Given the description of an element on the screen output the (x, y) to click on. 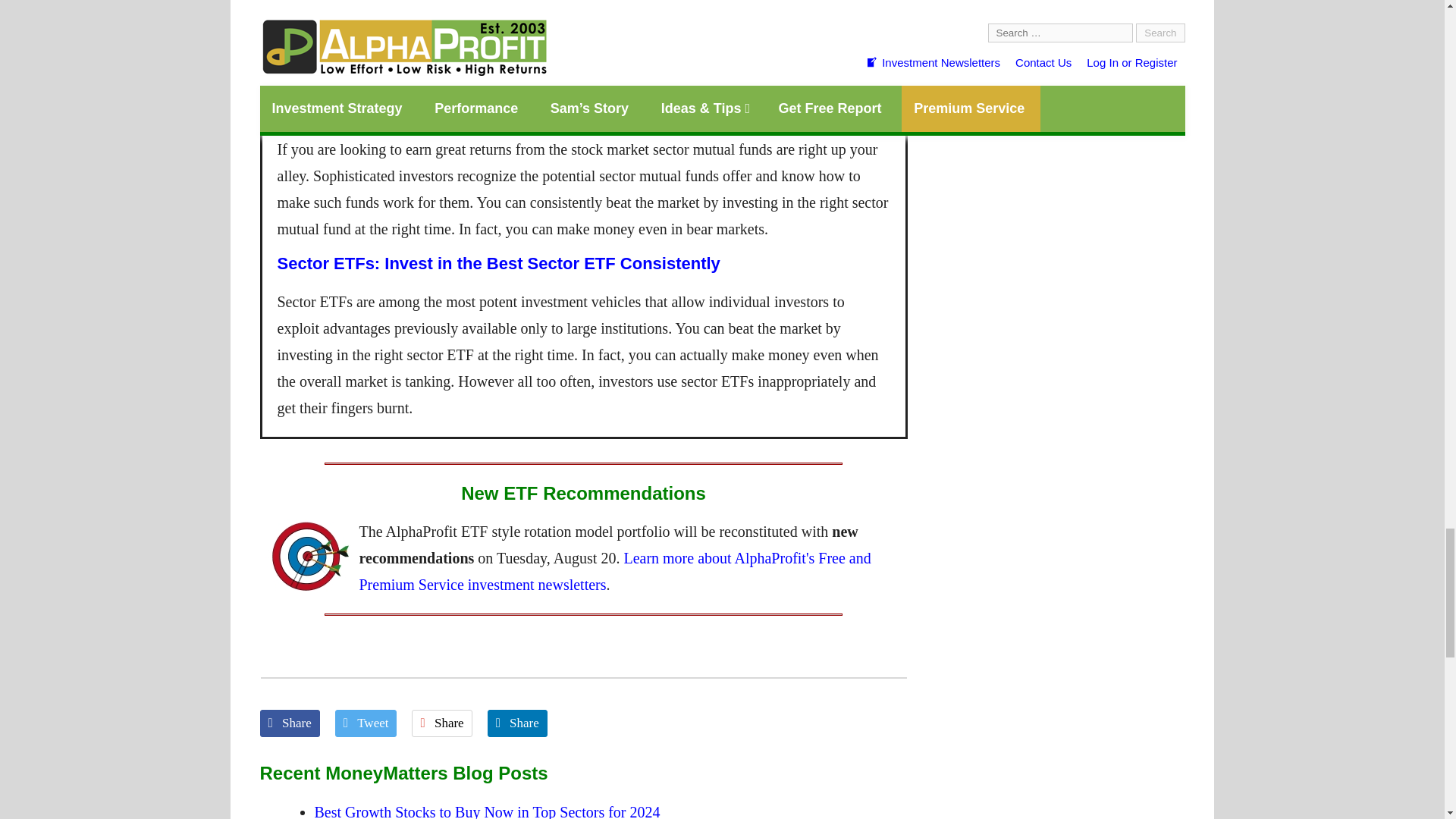
Sector ETFs: Invest in the Best Sector ETF Consistently (499, 262)
Share (293, 722)
Tweet (369, 722)
Share (446, 722)
